Given the description of an element on the screen output the (x, y) to click on. 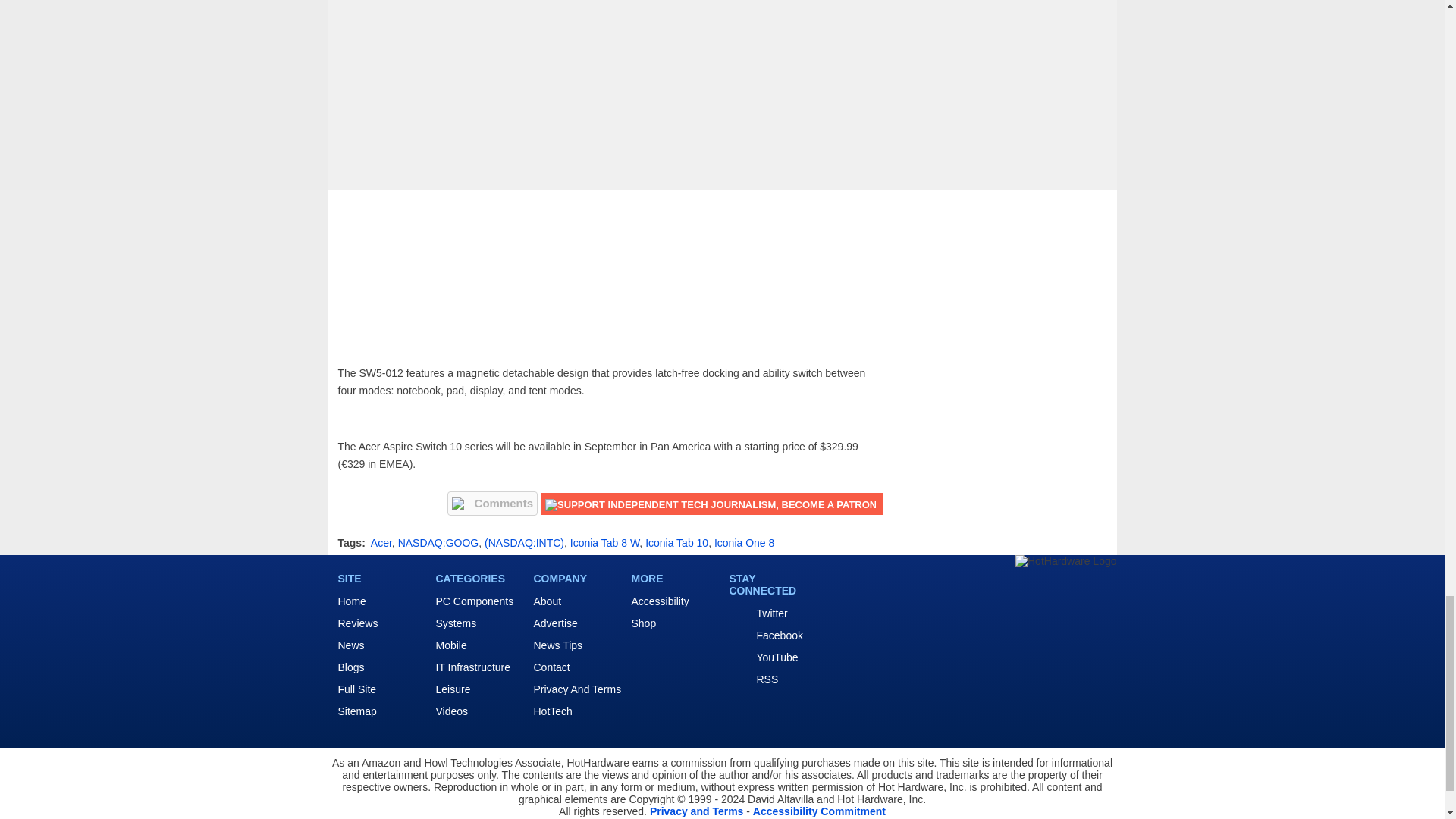
Comments (492, 503)
